Given the description of an element on the screen output the (x, y) to click on. 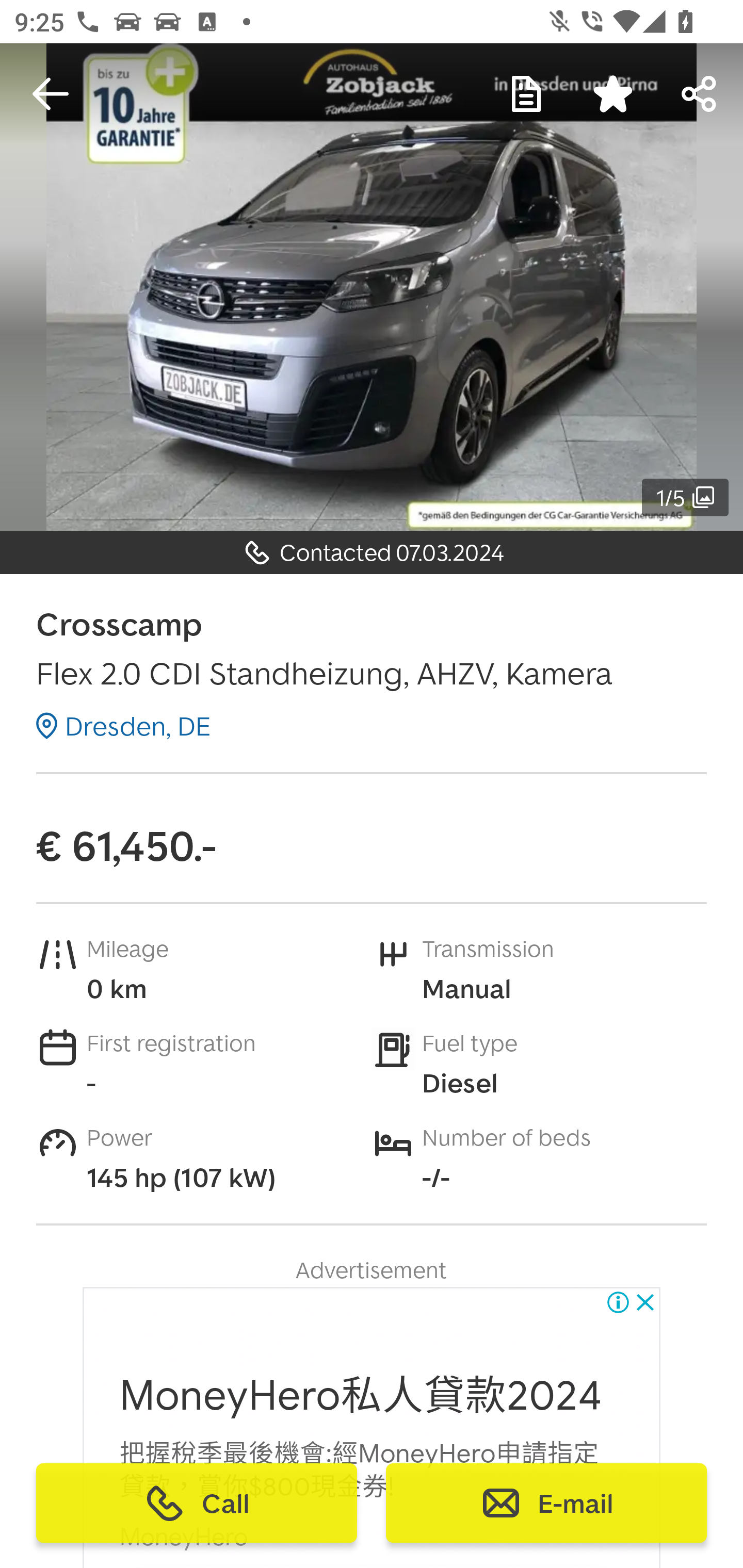
Navigate up (50, 93)
My Notes (525, 93)
Saved (612, 93)
Forward (699, 93)
Dresden, DE (123, 725)
MoneyHero私人貸款2024 (361, 1396)
Call (196, 1502)
E-mail (545, 1502)
